Given the description of an element on the screen output the (x, y) to click on. 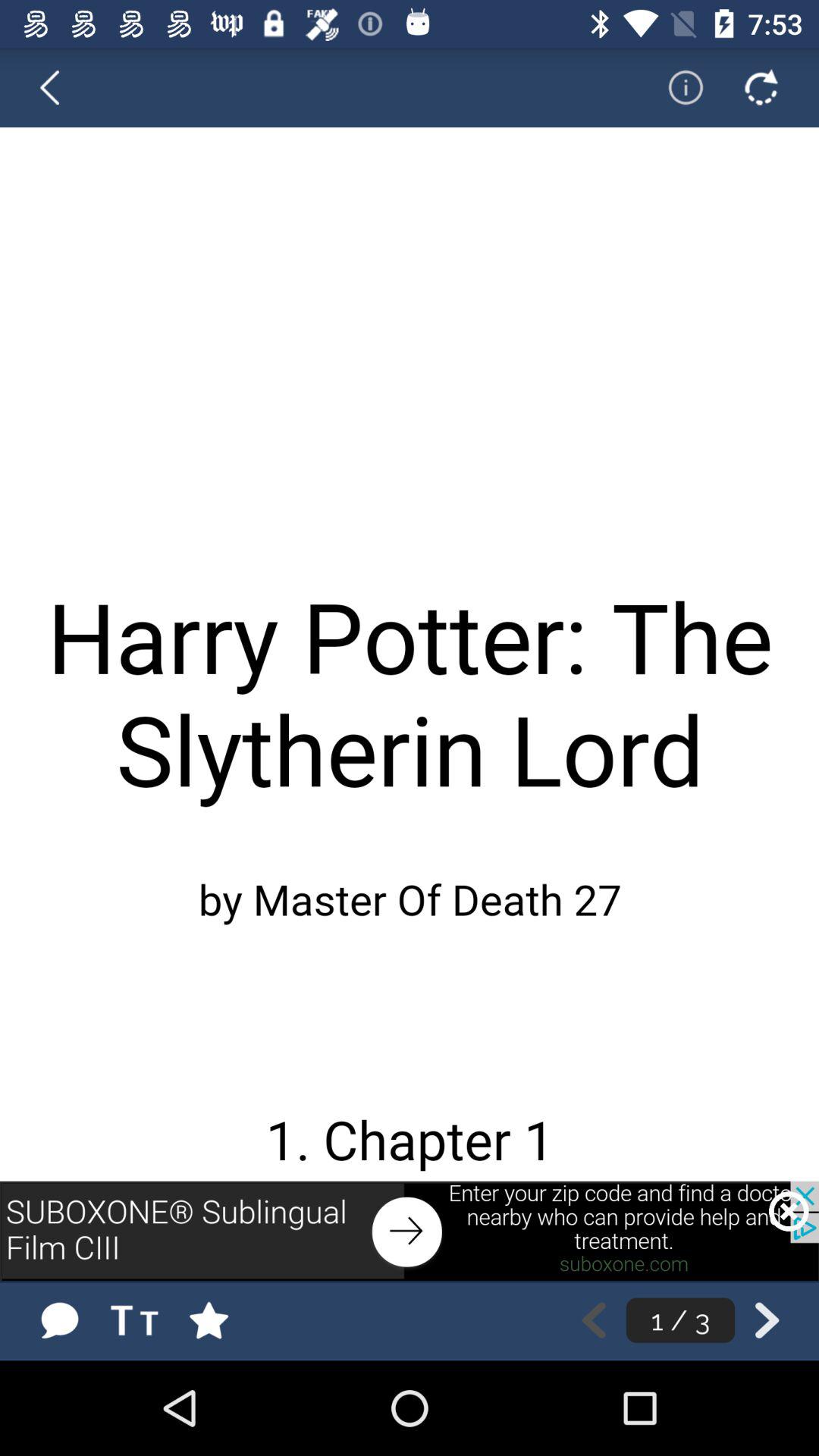
so the advertisement (409, 1230)
